Given the description of an element on the screen output the (x, y) to click on. 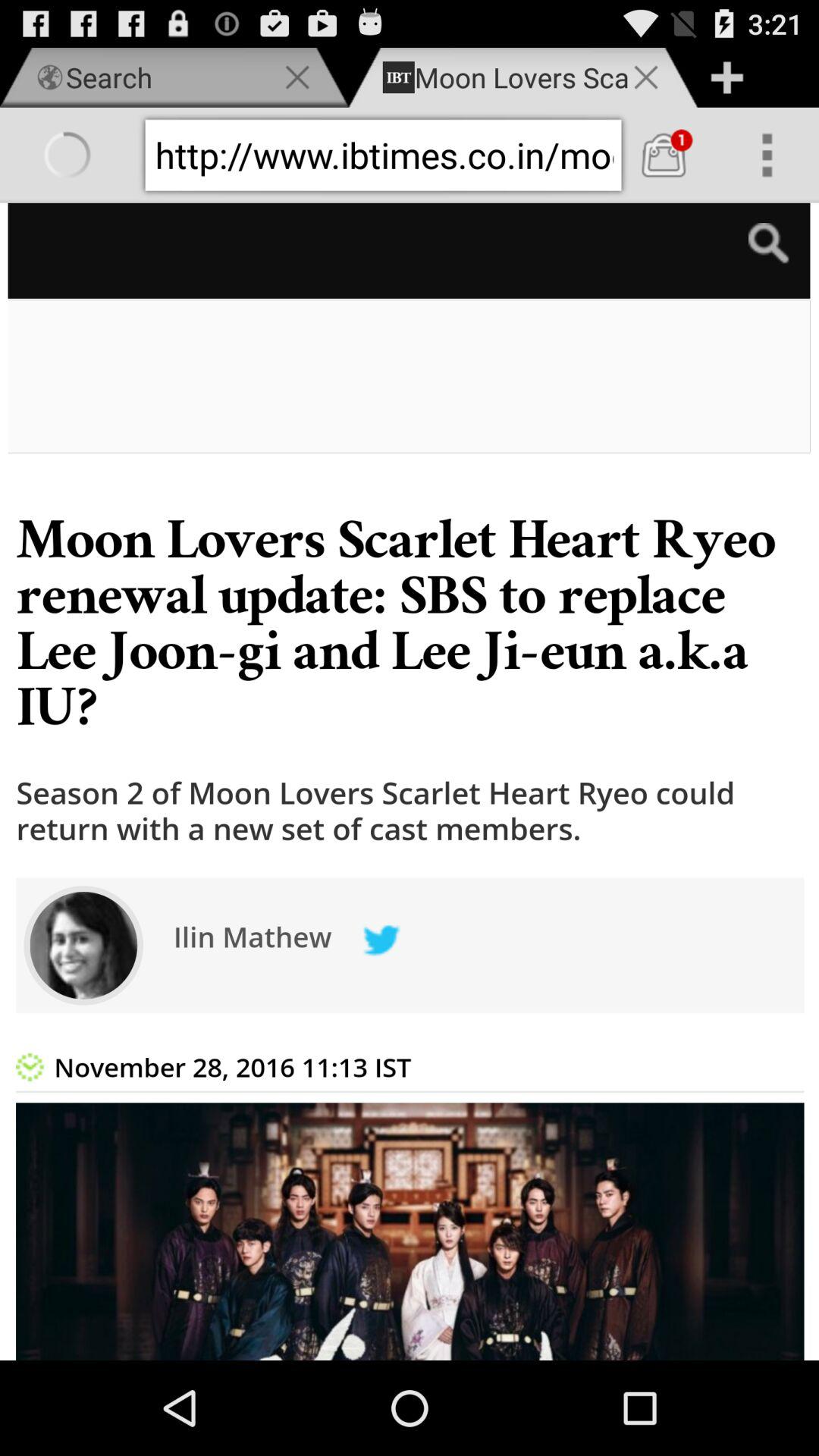
open menu (767, 155)
